Given the description of an element on the screen output the (x, y) to click on. 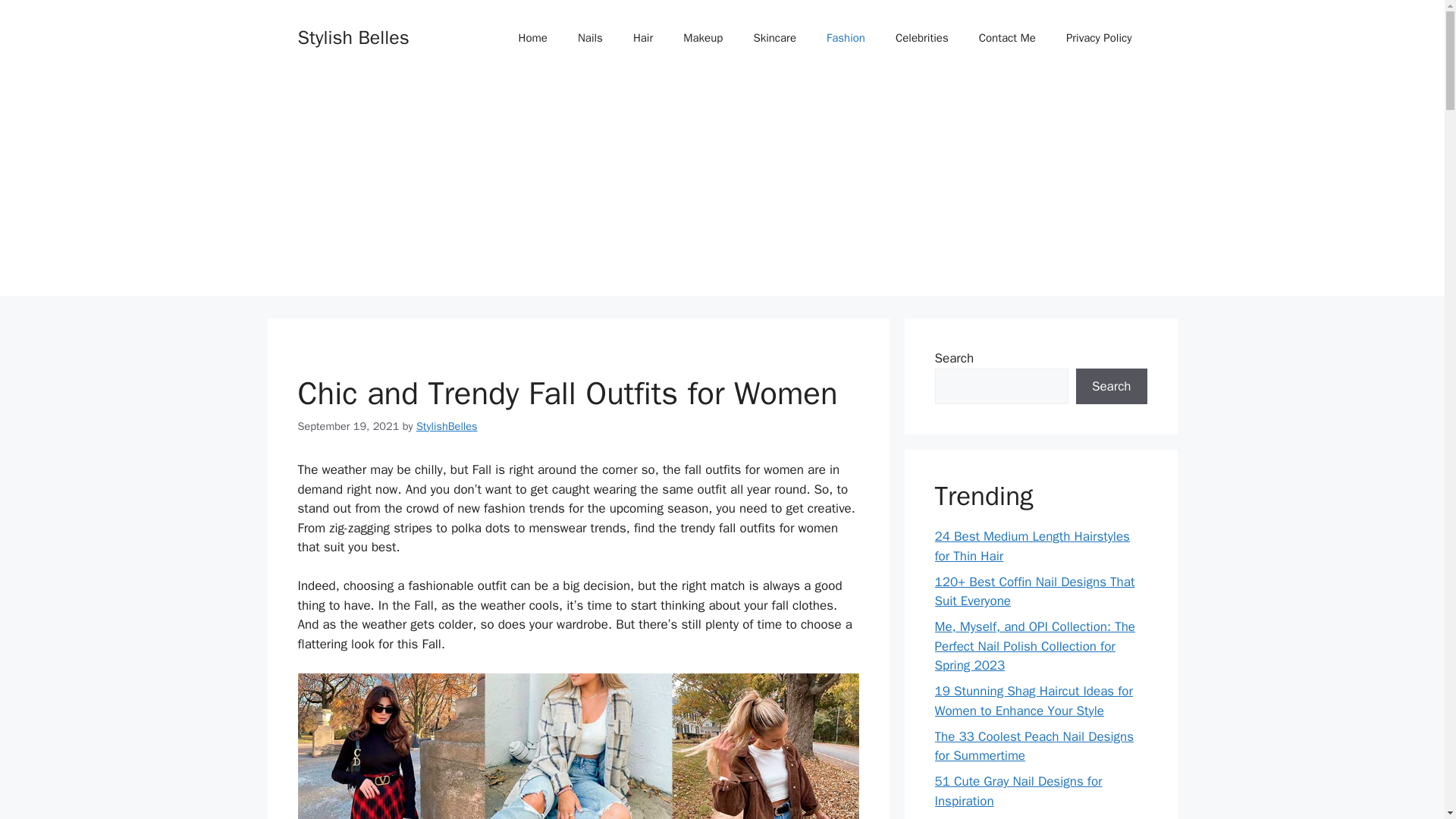
Celebrities (921, 37)
Hair (642, 37)
StylishBelles (446, 426)
24 Best Medium Length Hairstyles for Thin Hair (1031, 546)
The 33 Coolest Peach Nail Designs for Summertime (1033, 745)
51 Cute Gray Nail Designs for Inspiration (1018, 791)
7 Trendy Fall Outfits for Women 2021 (578, 746)
Skincare (774, 37)
Stylish Belles (353, 37)
Fashion (845, 37)
Privacy Policy (1099, 37)
Search (1111, 386)
Makeup (703, 37)
